Given the description of an element on the screen output the (x, y) to click on. 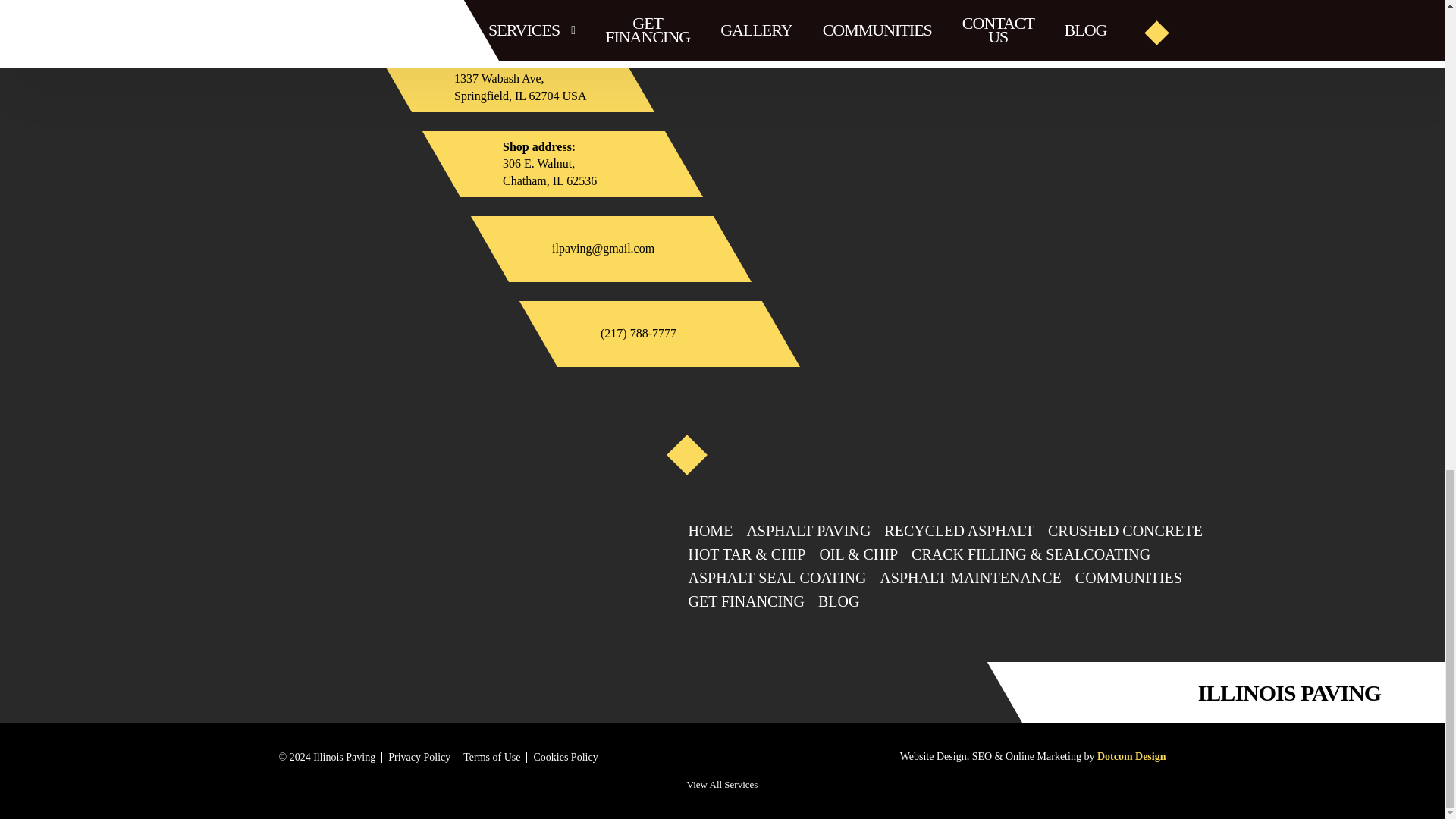
Terms of Use (564, 163)
RECYCLED ASPHALT (491, 756)
BLOG (958, 530)
ASPHALT PAVING (838, 601)
ASPHALT SEAL COATING (807, 530)
ASPHALT MAINTENANCE (776, 577)
COMMUNITIES (970, 577)
GET FINANCING (1128, 577)
